Given the description of an element on the screen output the (x, y) to click on. 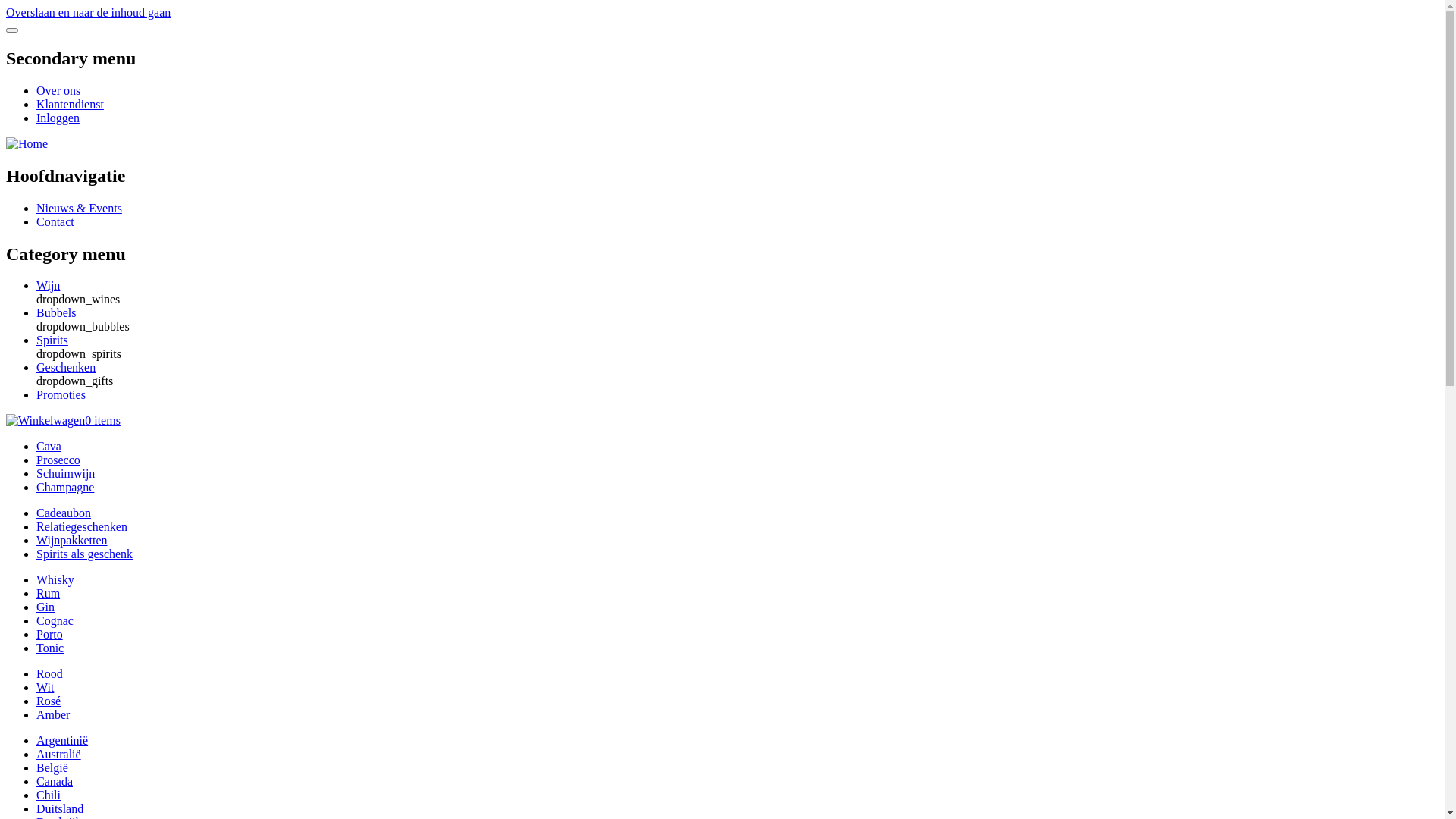
Whisky Element type: text (55, 579)
Porto Element type: text (49, 633)
Rum Element type: text (47, 592)
Canada Element type: text (54, 781)
Champagne Element type: text (65, 486)
Chili Element type: text (48, 794)
Schuimwijn Element type: text (65, 473)
Winkelwagen Element type: hover (45, 420)
Cava Element type: text (48, 445)
Duitsland Element type: text (59, 808)
Amber Element type: text (52, 714)
Gin Element type: text (45, 606)
Over ons Element type: text (58, 90)
Contact Element type: text (55, 221)
0 items Element type: text (63, 420)
Wit Element type: text (44, 686)
Rood Element type: text (49, 673)
Inloggen Element type: text (57, 117)
Nieuws & Events Element type: text (79, 207)
Cadeaubon Element type: text (63, 512)
Klantendienst Element type: text (69, 103)
Relatiegeschenken Element type: text (81, 526)
Geschenken Element type: text (65, 366)
Tonic Element type: text (49, 647)
Promoties Element type: text (60, 394)
Wijn Element type: text (47, 285)
Cognac Element type: text (54, 620)
Prosecco Element type: text (58, 459)
Spirits Element type: text (52, 339)
Spirits als geschenk Element type: text (84, 553)
Wijnpakketten Element type: text (71, 539)
Overslaan en naar de inhoud gaan Element type: text (88, 12)
Bubbels Element type: text (55, 312)
